Given the description of an element on the screen output the (x, y) to click on. 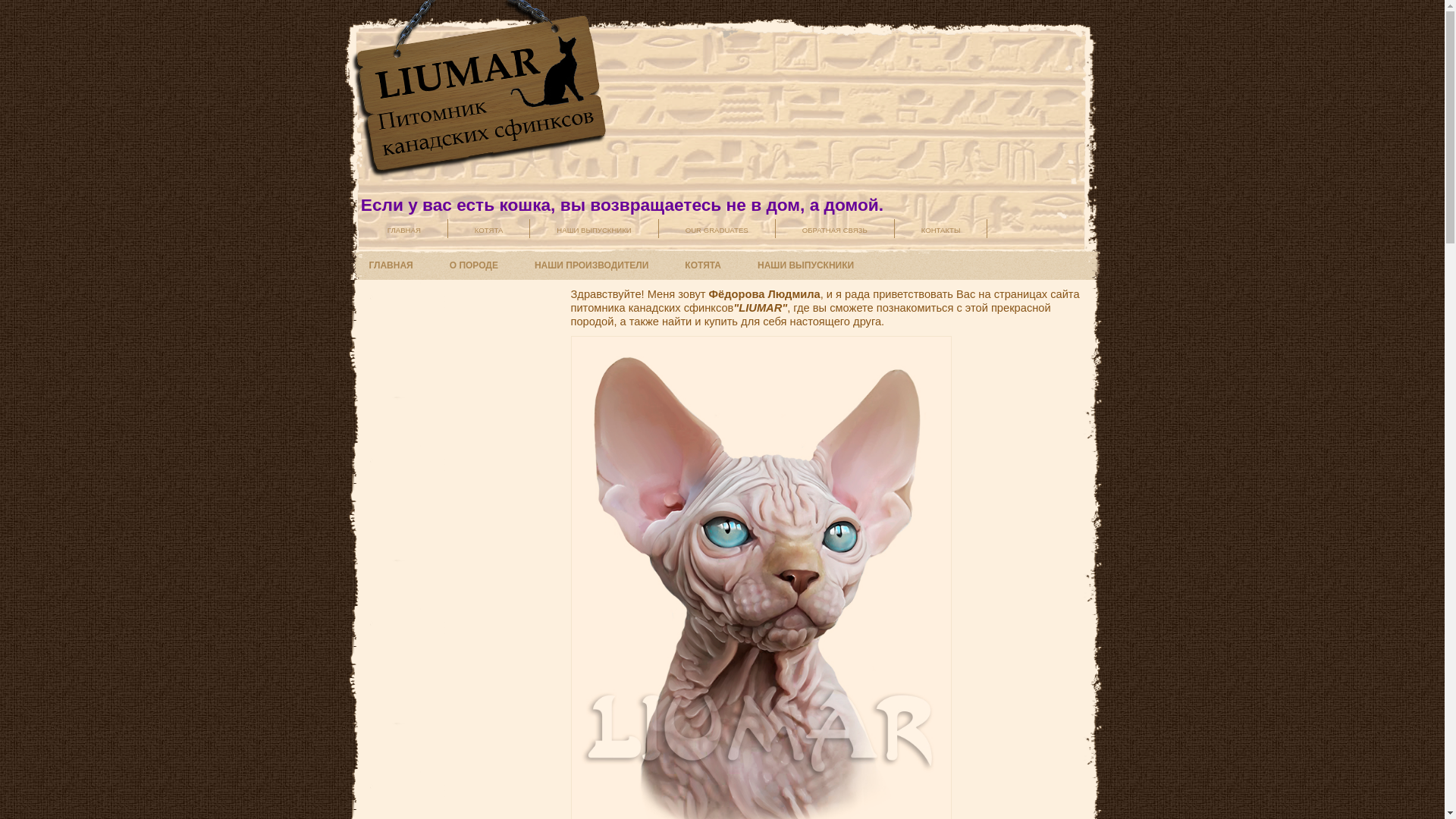
OUR GRADUATES Element type: text (716, 228)
